Given the description of an element on the screen output the (x, y) to click on. 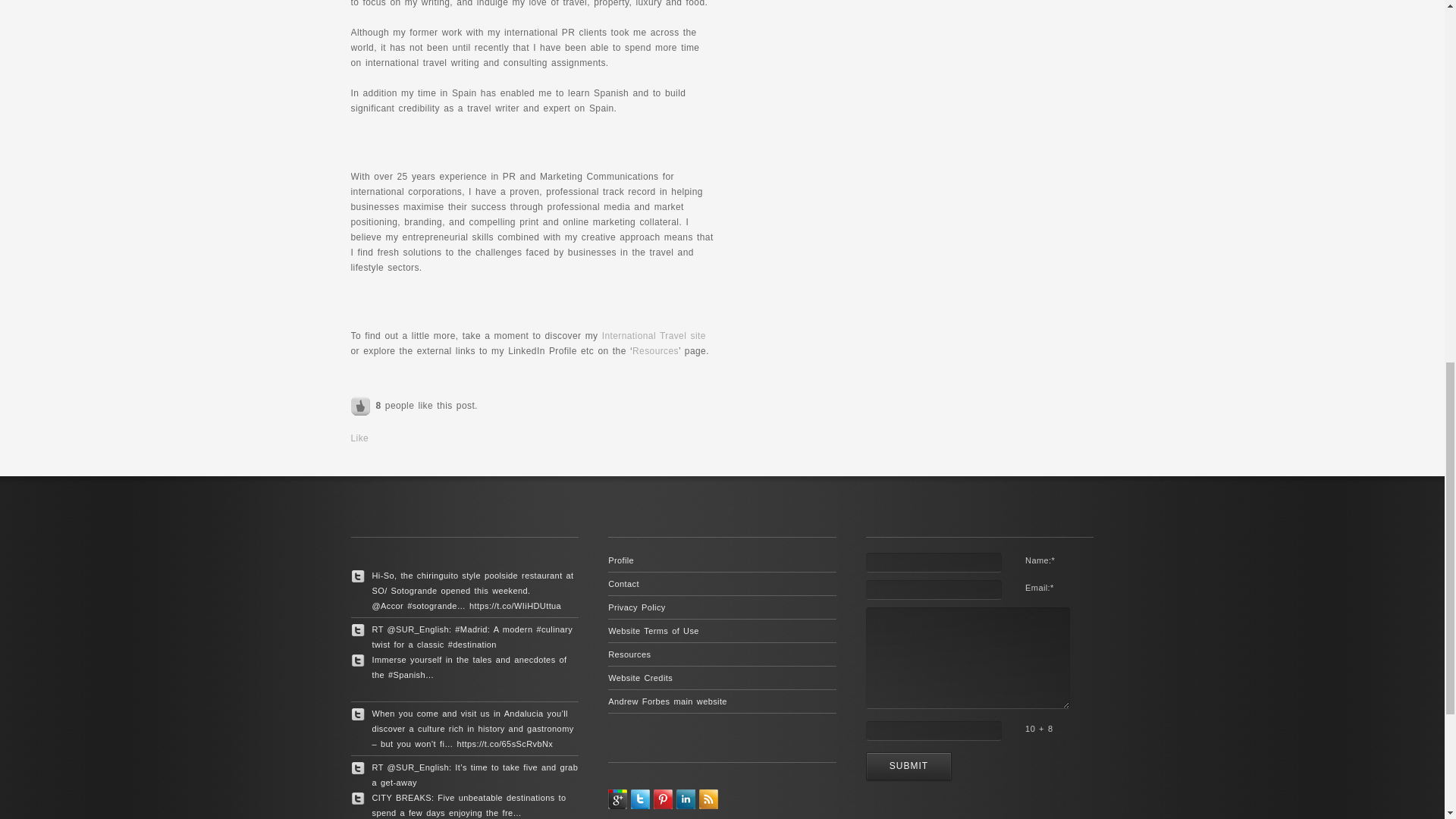
Profile (620, 560)
Website Terms of Use (653, 630)
Resources (629, 654)
International Travel site (654, 335)
Like (360, 405)
Submit (909, 766)
Resources (654, 350)
Submit (909, 766)
Contact (623, 583)
Privacy Policy (636, 606)
